Given the description of an element on the screen output the (x, y) to click on. 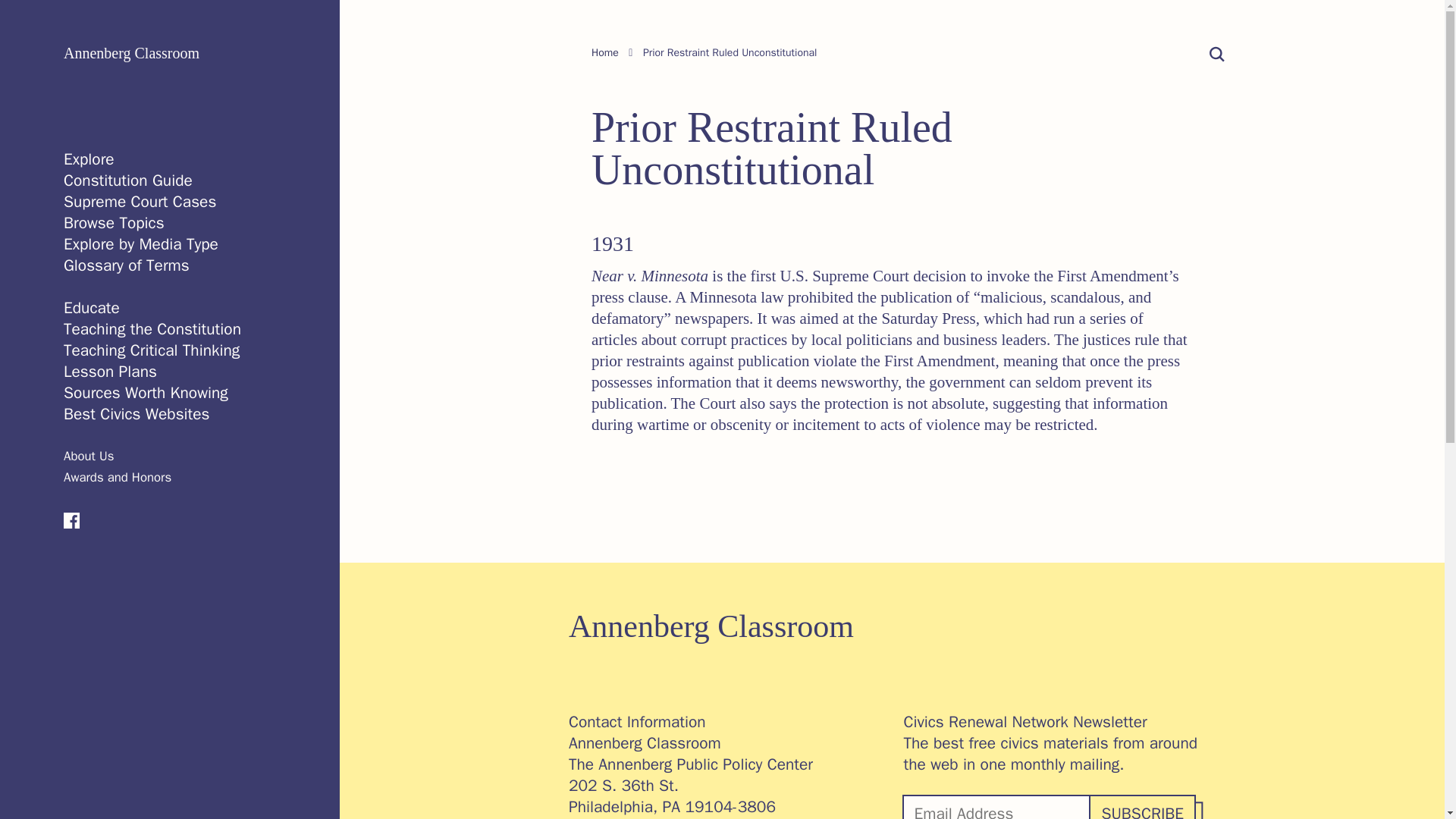
Subscribe (1141, 807)
Lesson Plans (110, 371)
Awards and Honors (117, 477)
Explore by Media Type (141, 243)
Browse Topics (114, 222)
Sources Worth Knowing (146, 392)
Glossary of Terms (126, 265)
Browse Topics (114, 222)
Educate (91, 307)
